Given the description of an element on the screen output the (x, y) to click on. 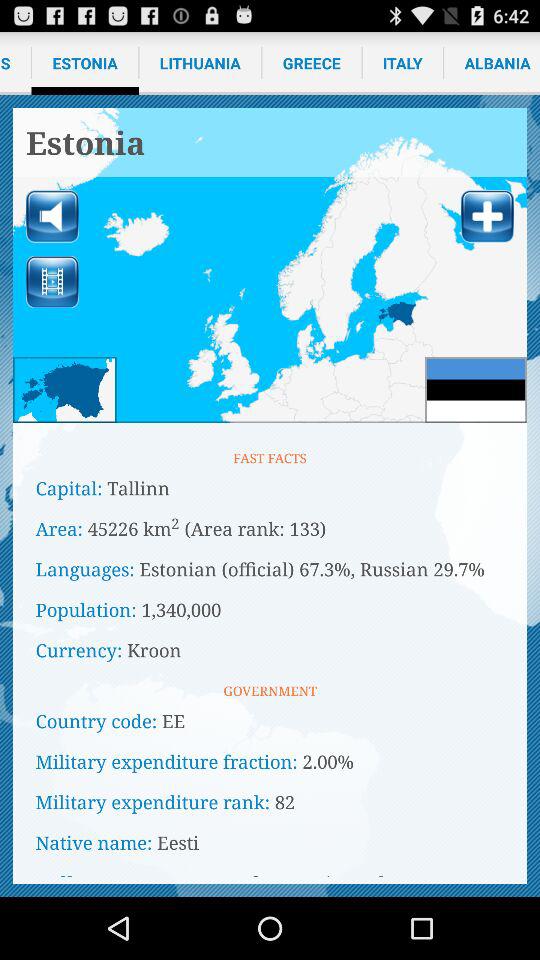
add location (487, 216)
